Given the description of an element on the screen output the (x, y) to click on. 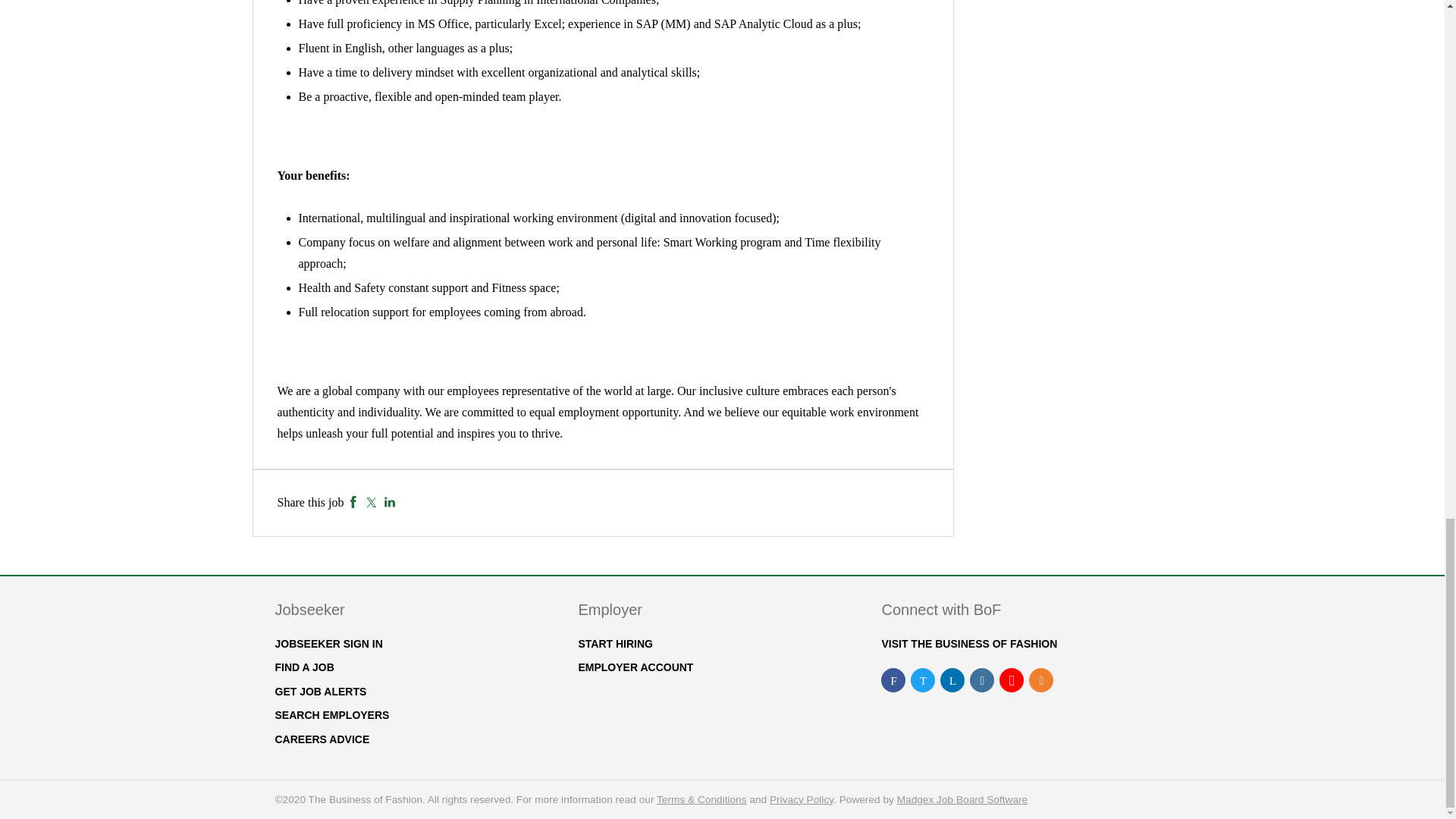
GET JOB ALERTS (320, 691)
Facebook (353, 502)
JOBSEEKER SIGN IN (328, 644)
FIND A JOB (304, 666)
Twitter (371, 502)
LinkedIn (390, 502)
